Given the description of an element on the screen output the (x, y) to click on. 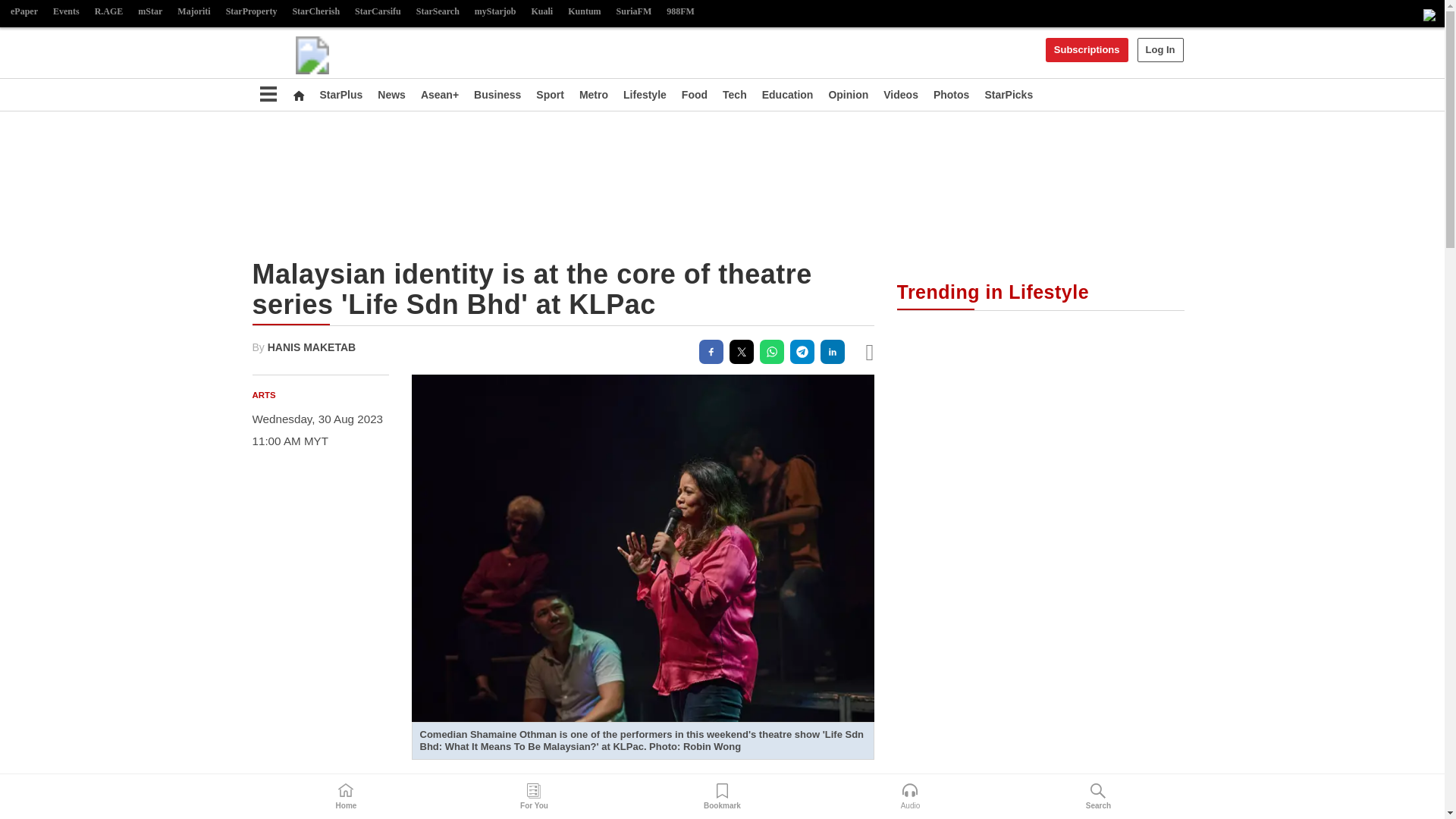
Events (66, 11)
SuriaFM (633, 11)
StarCarsifu (378, 11)
StarProperty (251, 11)
988FM (680, 11)
StarSearch (438, 11)
myStarjob (495, 11)
ePaper (23, 11)
Subscriptions (1086, 49)
R.AGE (109, 11)
StarCherish (315, 11)
Majoriti (193, 11)
Kuali (542, 11)
Kuntum (584, 11)
mStar (150, 11)
